Given the description of an element on the screen output the (x, y) to click on. 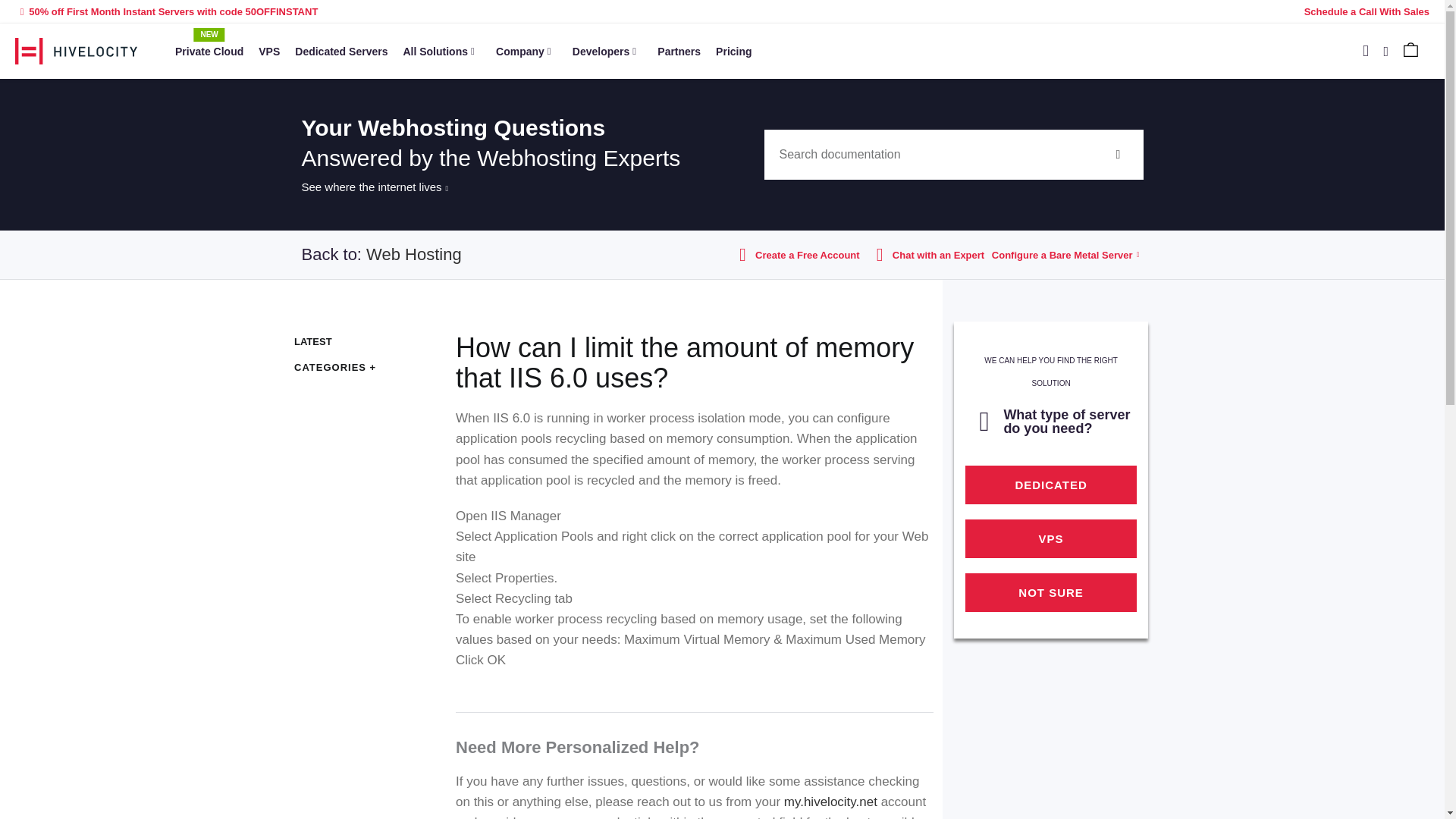
VPS (268, 50)
Schedule a Call With Sales (208, 50)
Get Support (1366, 11)
Dedicated Servers (1365, 52)
Pricing (340, 50)
Partners (732, 50)
MyVelocity Login (678, 50)
Search (1386, 51)
Cart (928, 154)
